Given the description of an element on the screen output the (x, y) to click on. 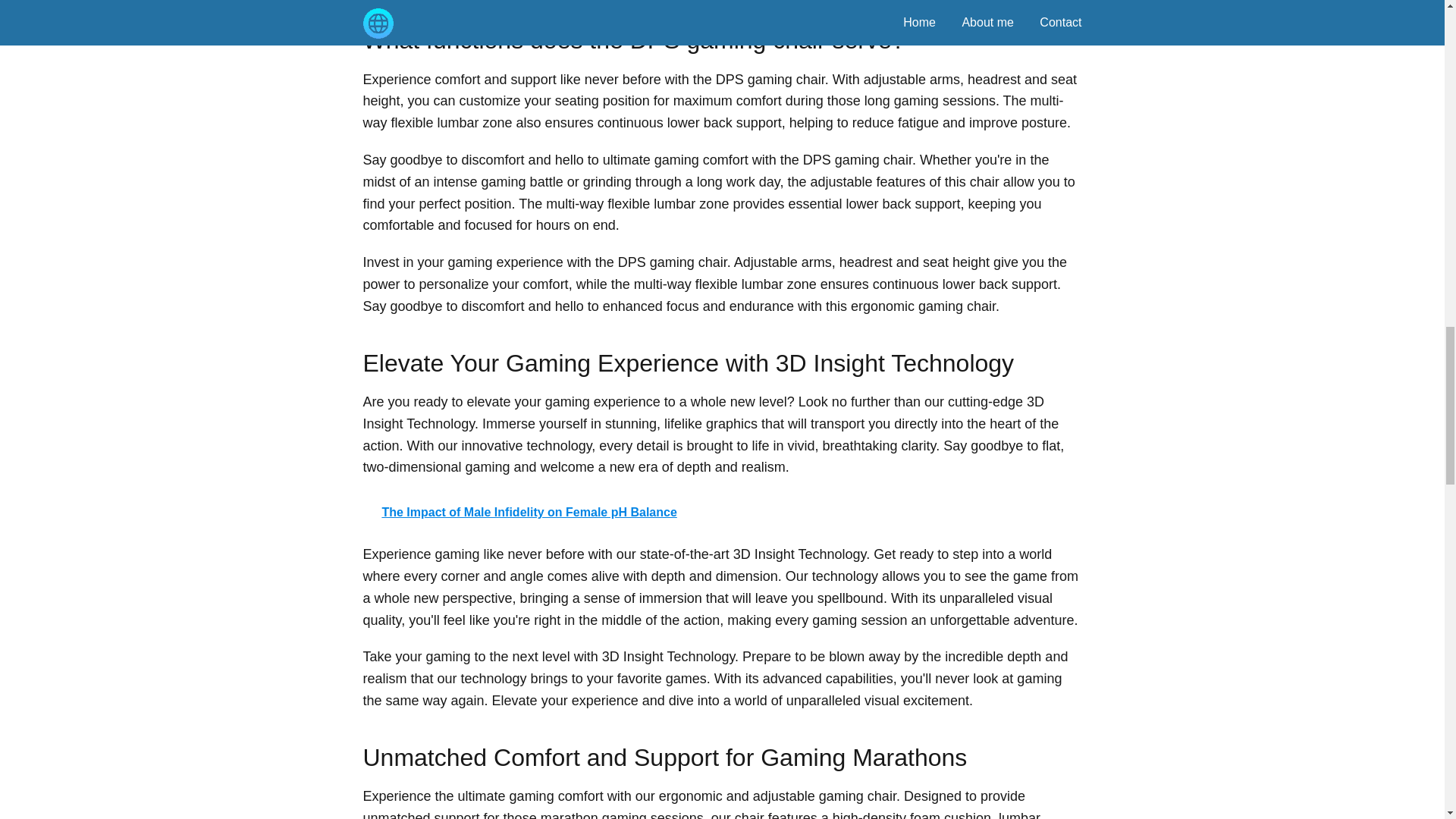
  The Impact of Male Infidelity on Female pH Balance (721, 512)
